Given the description of an element on the screen output the (x, y) to click on. 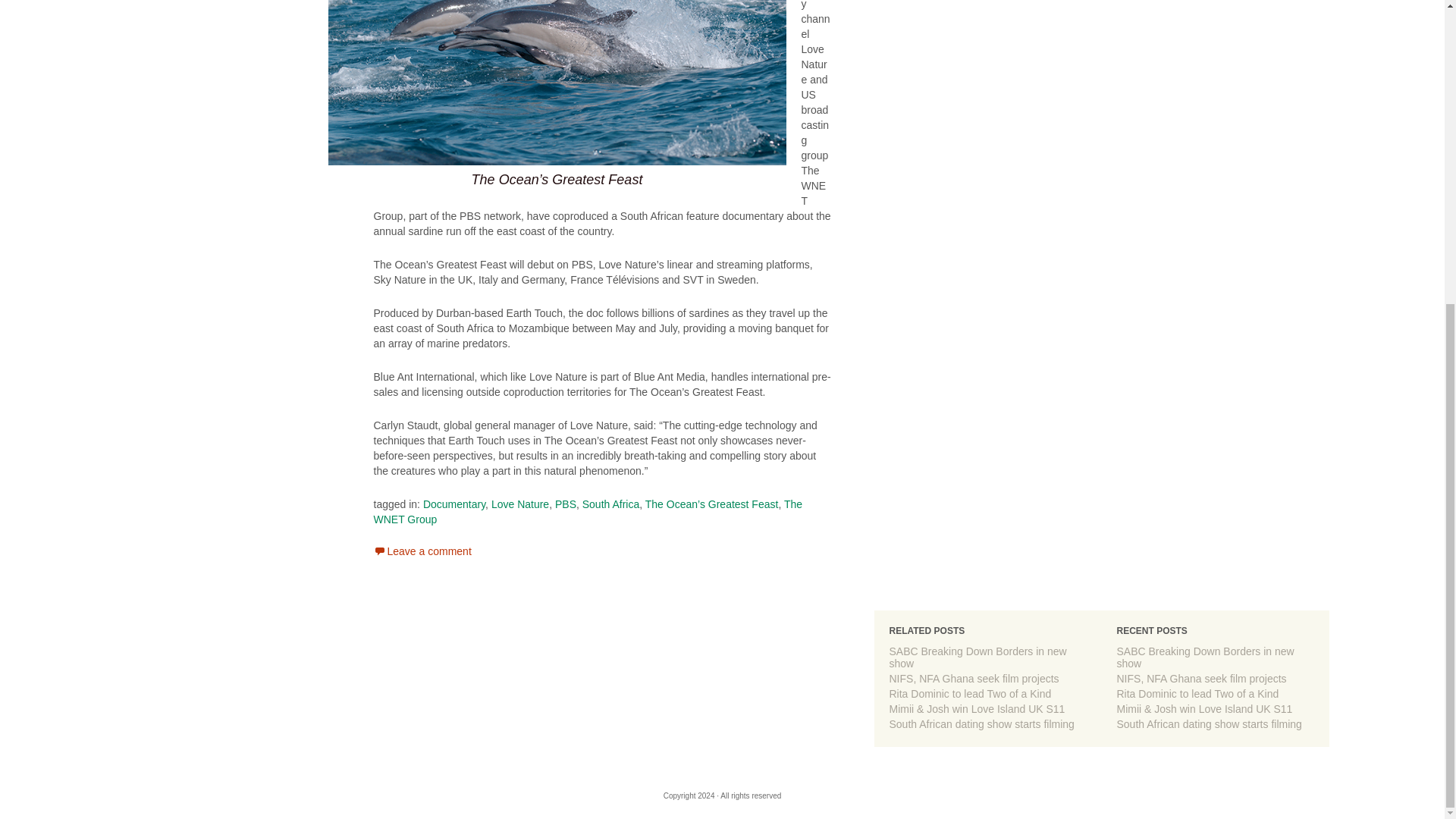
Documentary (453, 503)
Love Nature (520, 503)
South Africa (611, 503)
NIFS, NFA Ghana seek film projects (973, 678)
SABC Breaking Down Borders in new show (1205, 657)
Leave a comment (421, 551)
Rita Dominic to lead Two of a Kind (969, 693)
SABC Breaking Down Borders in new show (976, 657)
PBS (565, 503)
NIFS, NFA Ghana seek film projects (973, 678)
The WNET Group (587, 511)
NIFS, NFA Ghana seek film projects (1200, 678)
South African dating show starts filming (981, 724)
SABC Breaking Down Borders in new show (976, 657)
South African dating show starts filming (1208, 724)
